Given the description of an element on the screen output the (x, y) to click on. 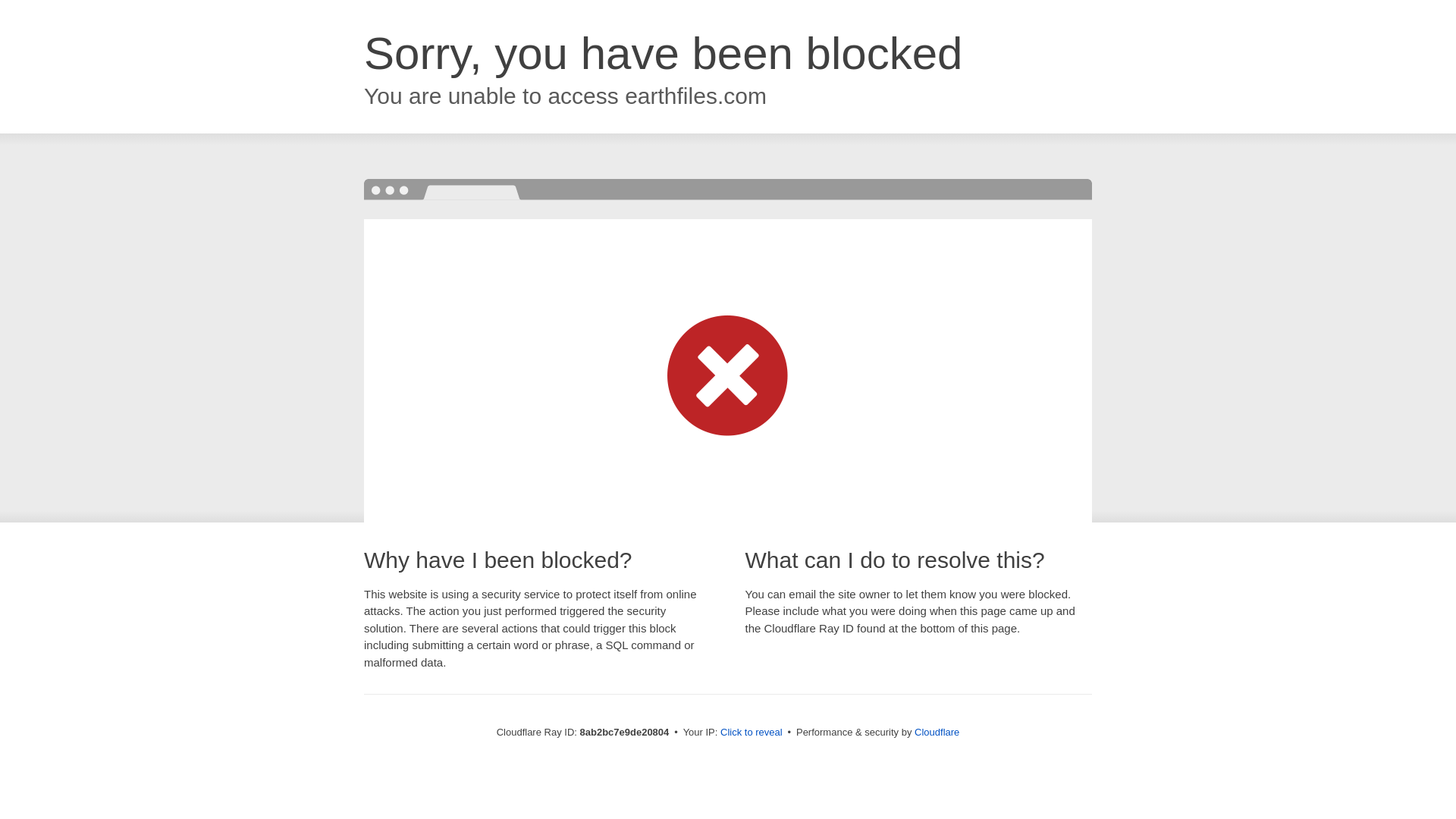
Click to reveal (751, 732)
Cloudflare (936, 731)
